Given the description of an element on the screen output the (x, y) to click on. 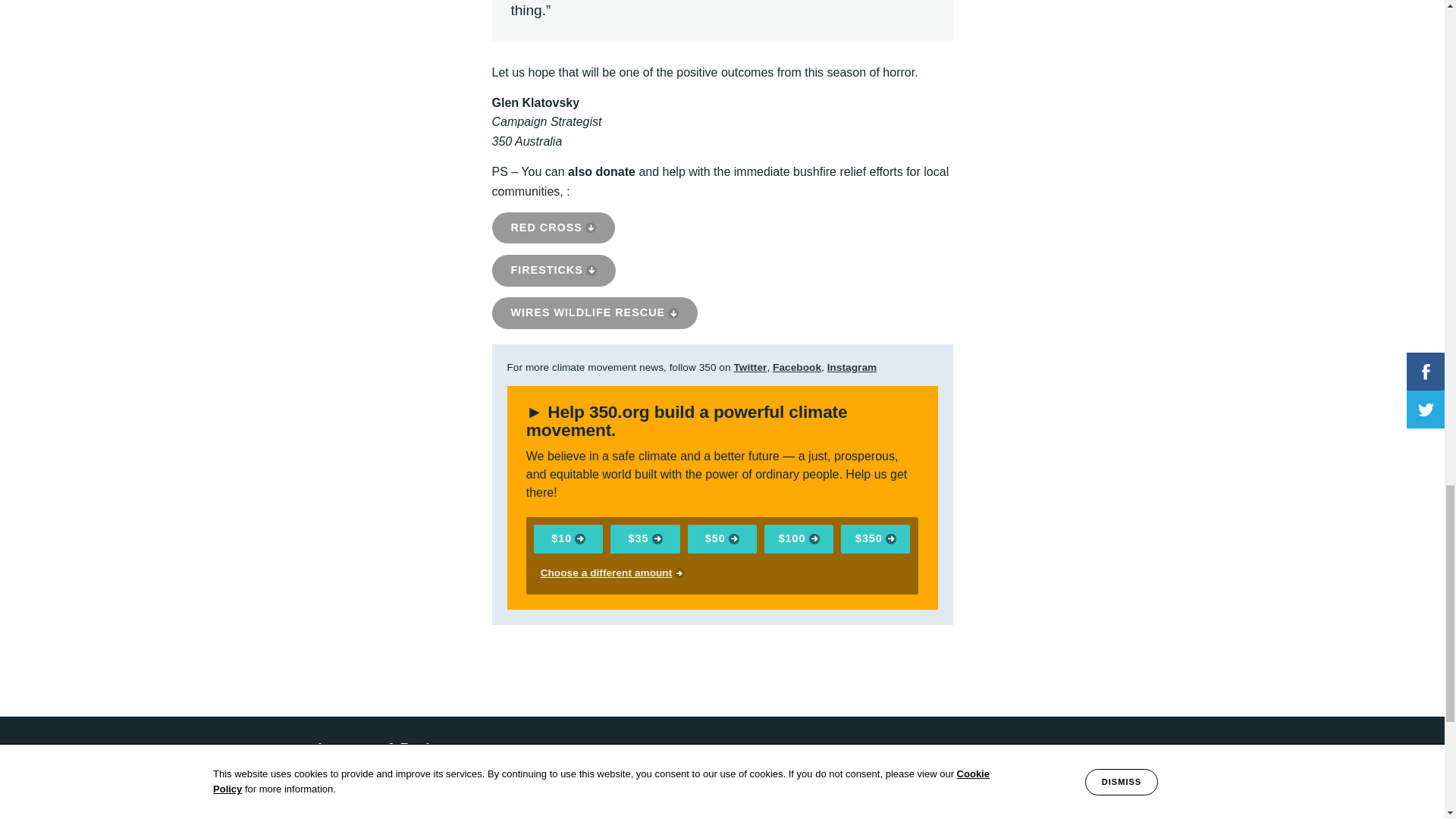
FIRESTICKS (553, 270)
RED CROSS (553, 228)
Twitter (750, 367)
Facebook (797, 367)
WIRES WILDLIFE RESCUE (594, 313)
Instagram (852, 367)
